Given the description of an element on the screen output the (x, y) to click on. 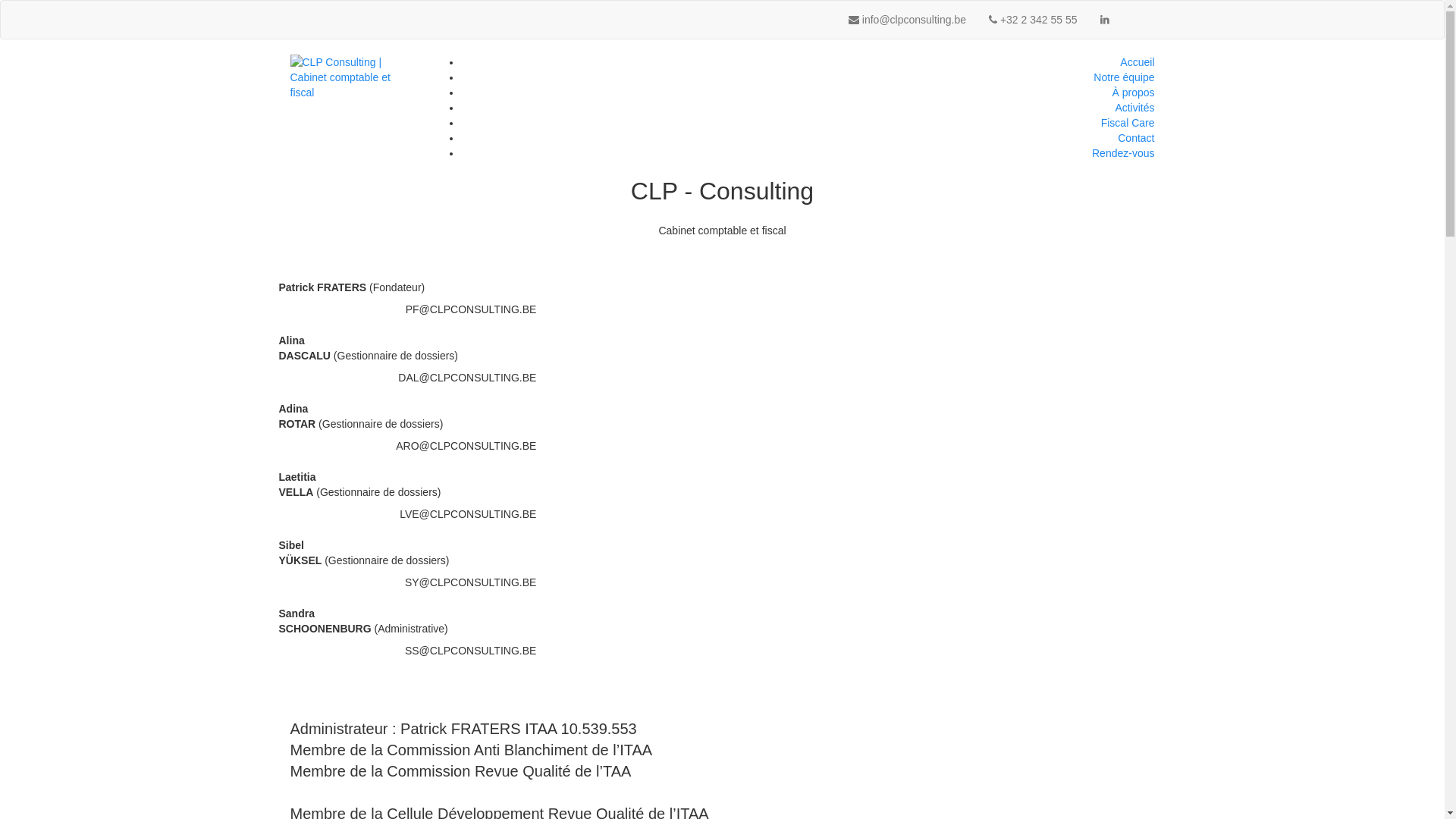
 info@clpconsulting.be Element type: text (907, 19)
ARO@CLPCONSULTING.BE Element type: text (465, 445)
 +32 2 342 55 55 Element type: text (1032, 19)
Fiscal Care Element type: text (1127, 122)
Accueil Element type: text (1137, 62)
PF@CLPCONSULTING.BE Element type: text (470, 308)
LVE@CLPCONSULTING.BE Element type: text (467, 513)
SS@CLPCONSULTING.BE Element type: text (470, 650)
DAL@CLPCONSULTING.BE Element type: text (466, 377)
Contact Element type: text (1135, 137)
Rendez-vous Element type: text (1123, 153)
SY@CLPCONSULTING.BE Element type: text (470, 581)
